Given the description of an element on the screen output the (x, y) to click on. 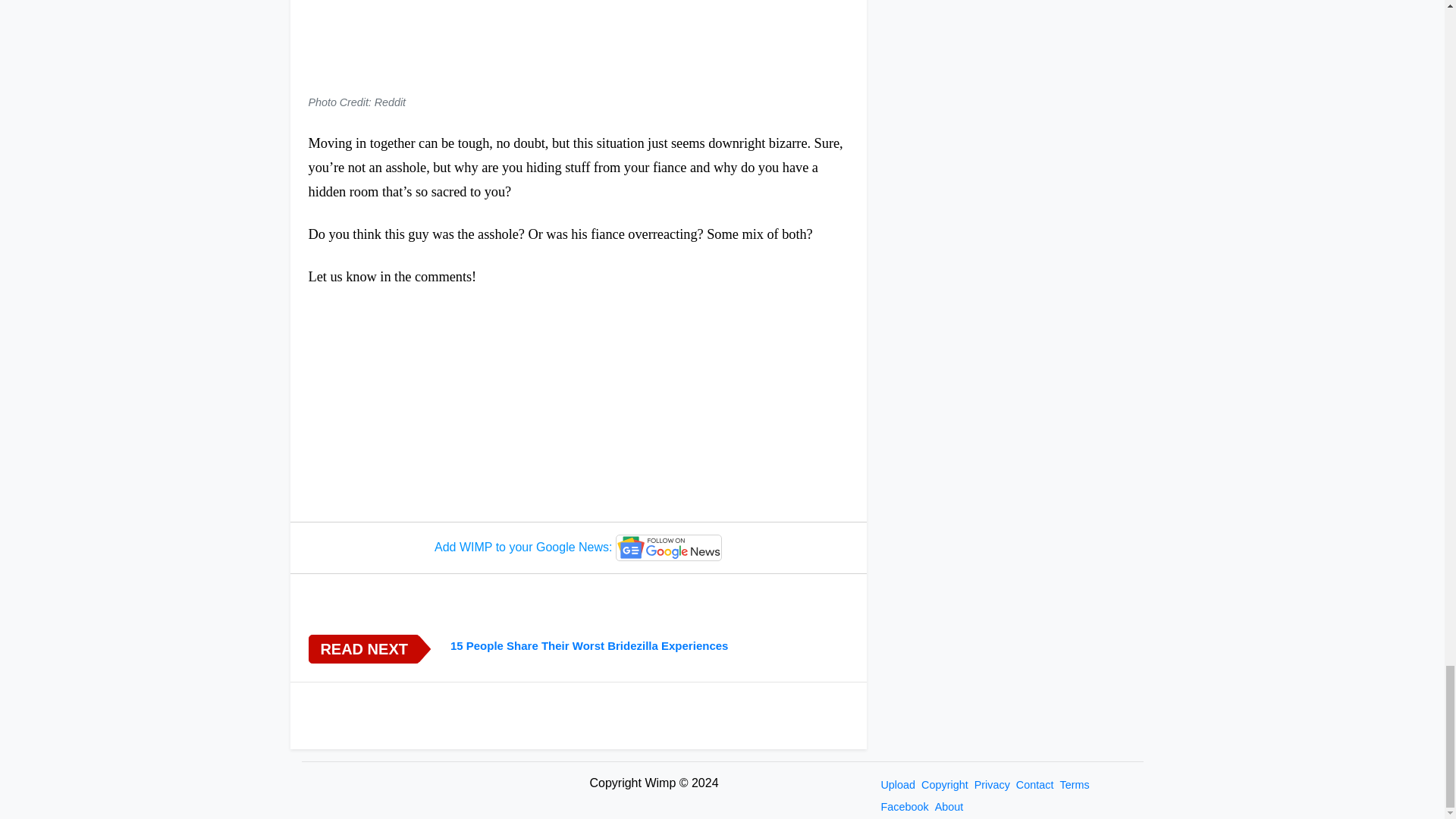
15 People Share Their Worst Bridezilla Experiences (648, 645)
Copyright (944, 784)
Terms (1074, 784)
Contact (1035, 784)
Google News (668, 547)
READ NEXT (363, 648)
Privacy (992, 784)
15 People Share Their Worst Bridezilla Experiences (648, 645)
Add WIMP to your Google News: (577, 547)
Upload (897, 784)
